Given the description of an element on the screen output the (x, y) to click on. 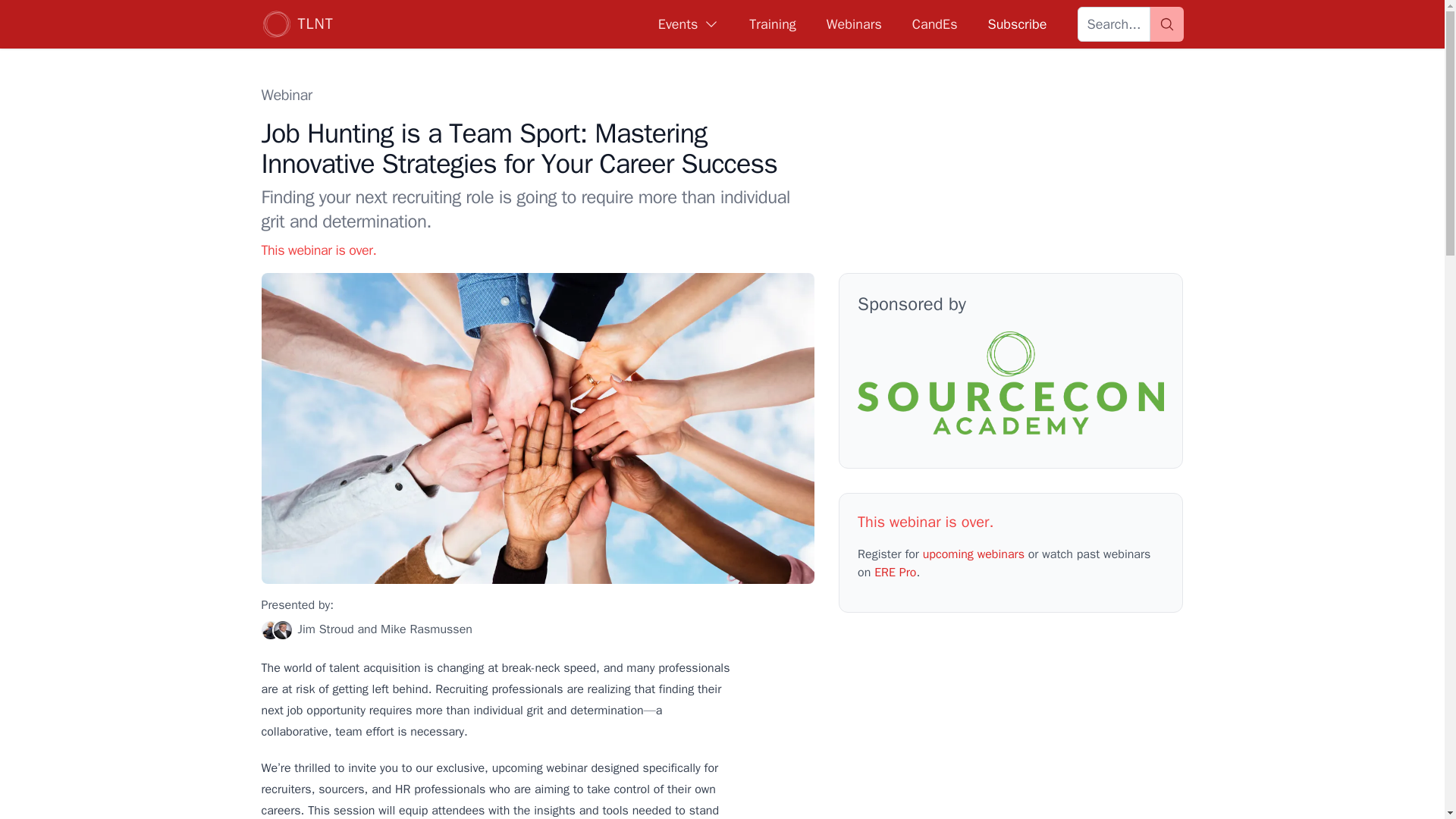
Webinars (854, 24)
ERE Pro (895, 572)
Events (688, 24)
TLNT (296, 24)
CandEs (935, 24)
upcoming webinars (974, 554)
Subscribe (1016, 24)
Training (771, 24)
